Given the description of an element on the screen output the (x, y) to click on. 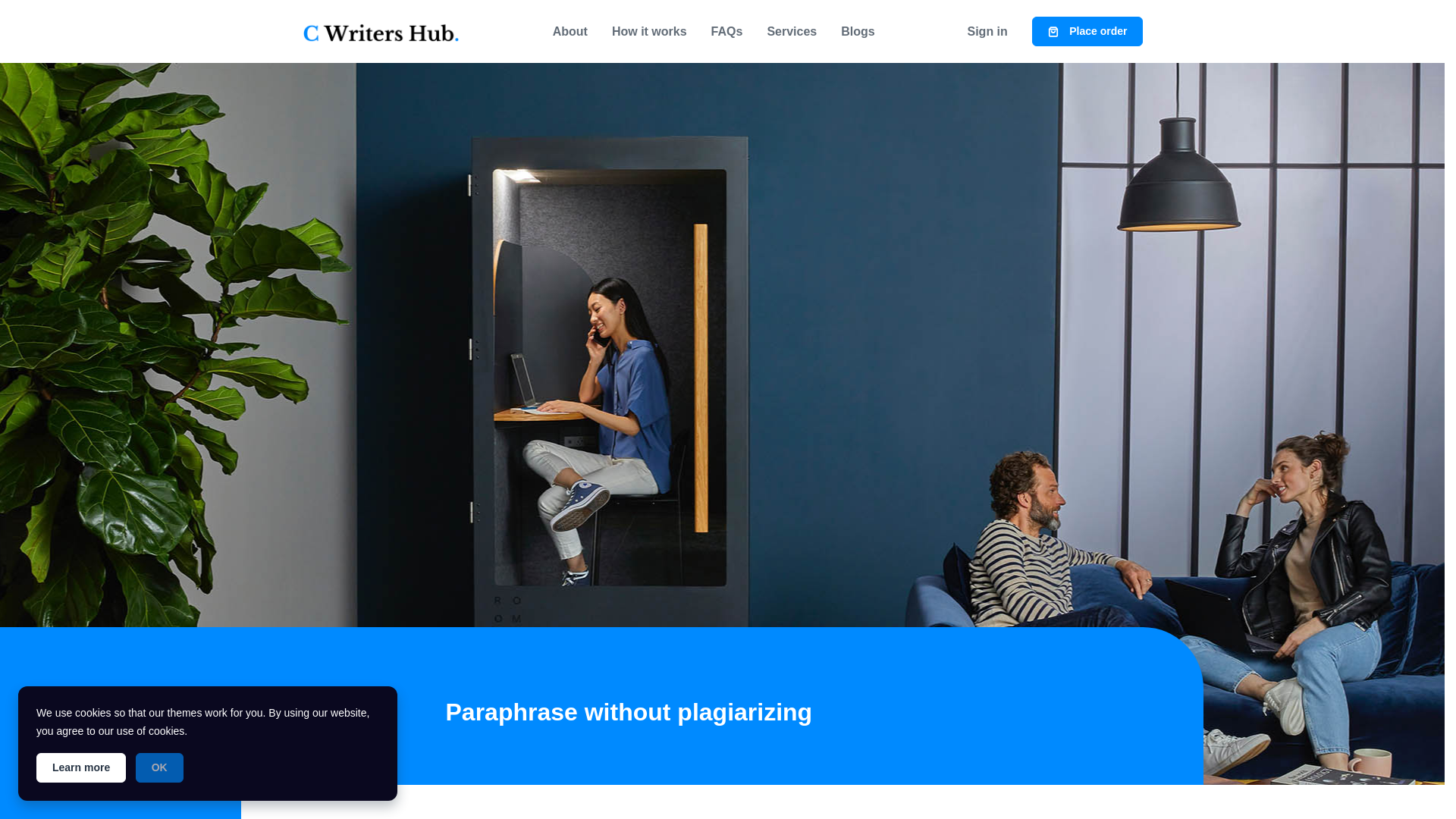
FAQs (726, 31)
Services (791, 31)
OK (159, 767)
How it works (648, 31)
Blogs (857, 31)
Learn more (80, 767)
About (569, 31)
Place order (1087, 30)
Sign in (987, 31)
